Given the description of an element on the screen output the (x, y) to click on. 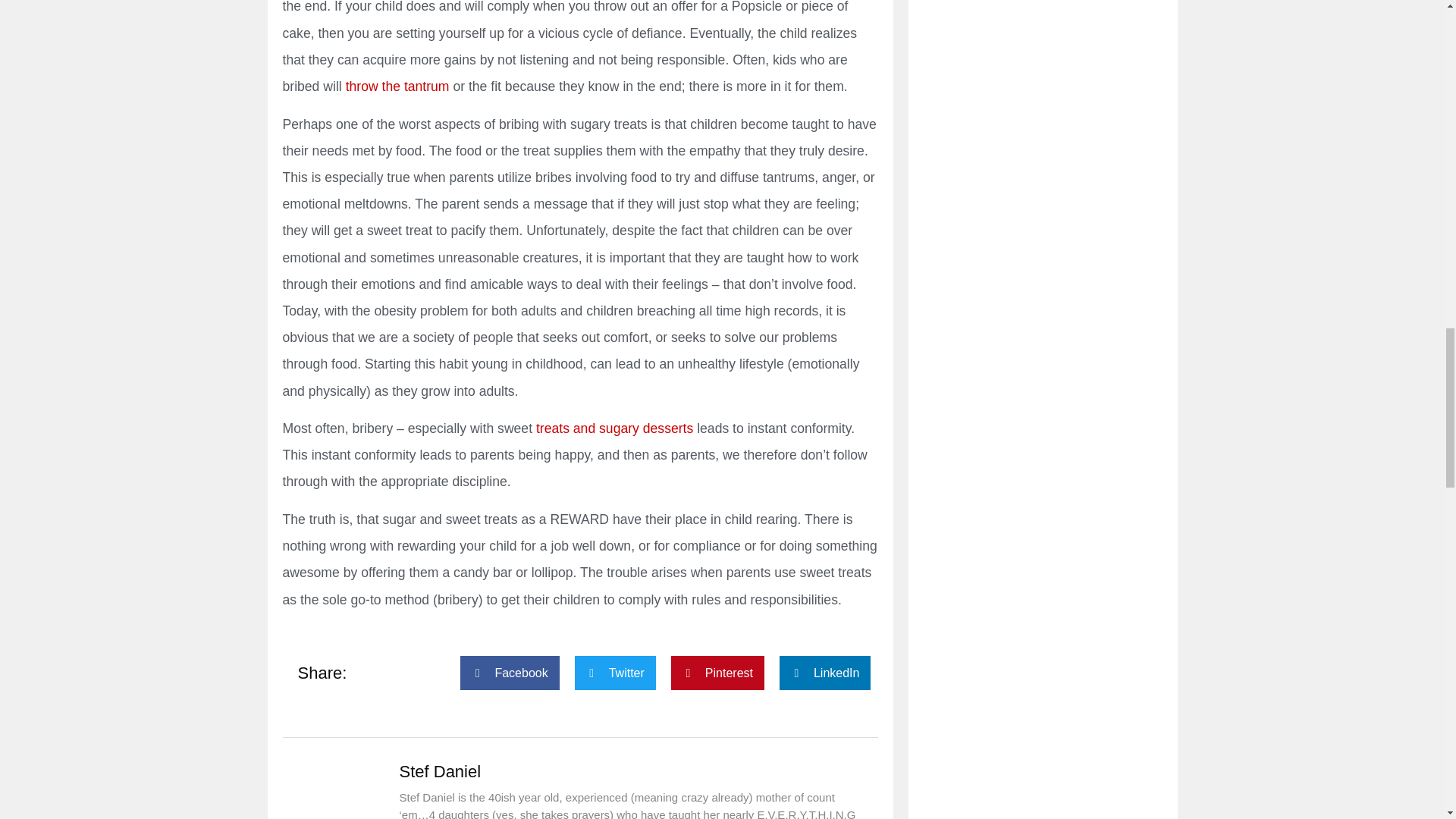
Tantrums - A Defiant Child (397, 86)
Curbing Sugar from our Kids Diets (614, 427)
